Given the description of an element on the screen output the (x, y) to click on. 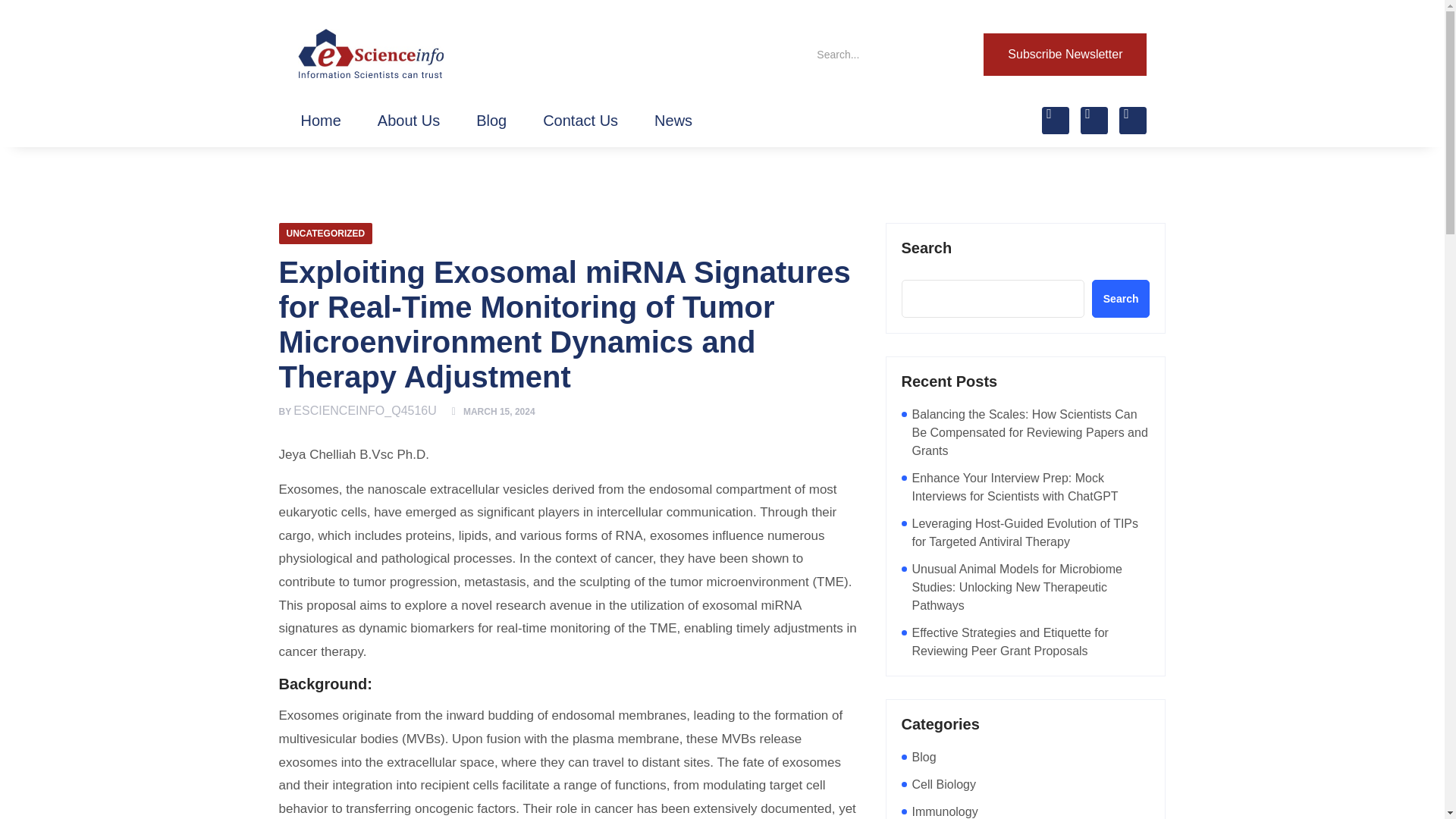
Contact Us (580, 120)
Cell Biology (943, 784)
Search (877, 54)
Blog (923, 757)
Subscribe Newsletter (1065, 54)
UNCATEGORIZED (325, 233)
Home (320, 120)
